Given the description of an element on the screen output the (x, y) to click on. 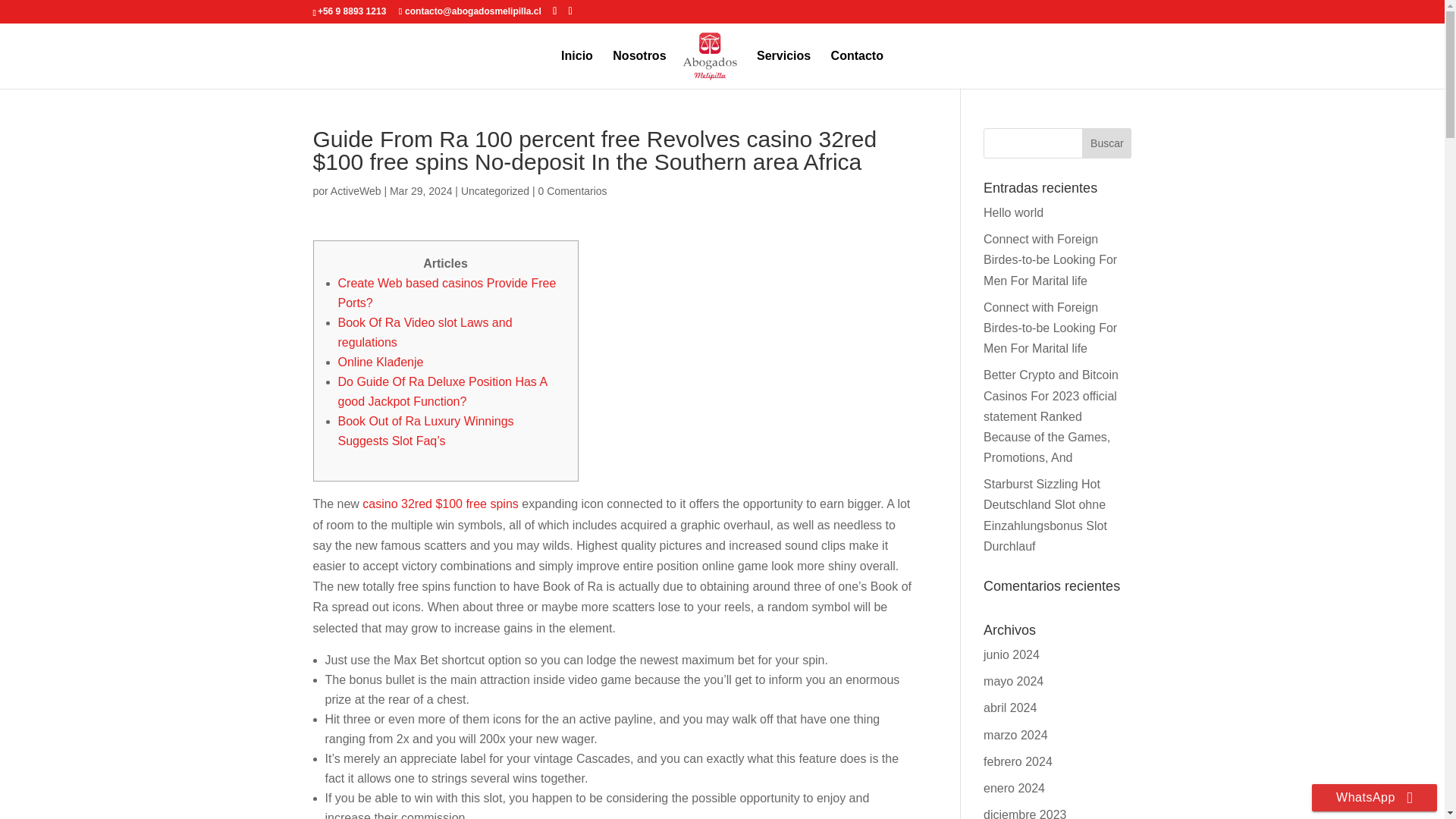
Book Of Ra Video slot Laws and regulations (424, 332)
Do Guide Of Ra Deluxe Position Has A good Jackpot Function? (442, 391)
Uncategorized (495, 191)
Buscar (1106, 142)
Servicios (783, 69)
Create Web based casinos Provide Free Ports? (446, 292)
Contacto (857, 69)
mayo 2024 (1013, 680)
